Given the description of an element on the screen output the (x, y) to click on. 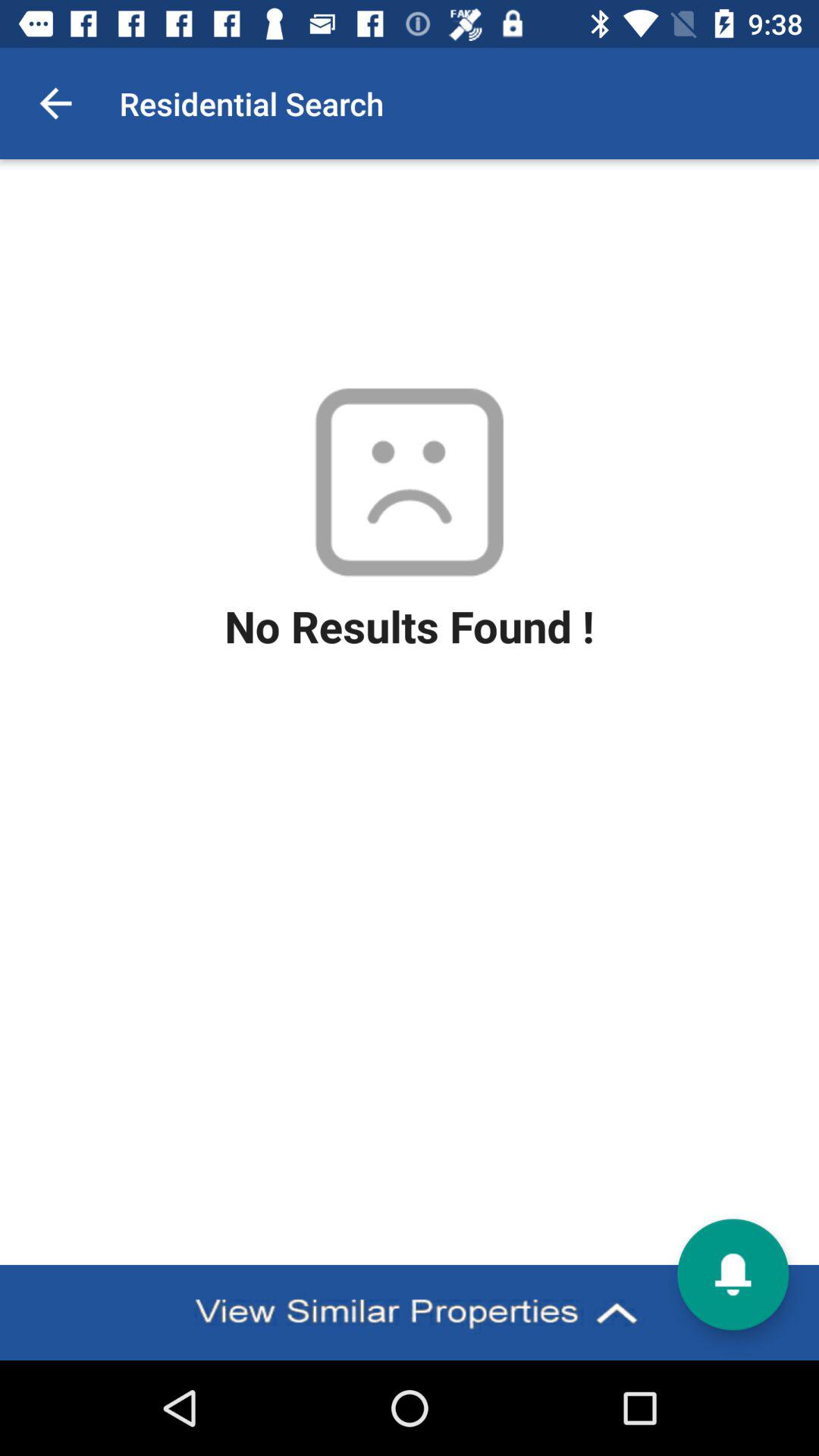
get notification (732, 1274)
